Given the description of an element on the screen output the (x, y) to click on. 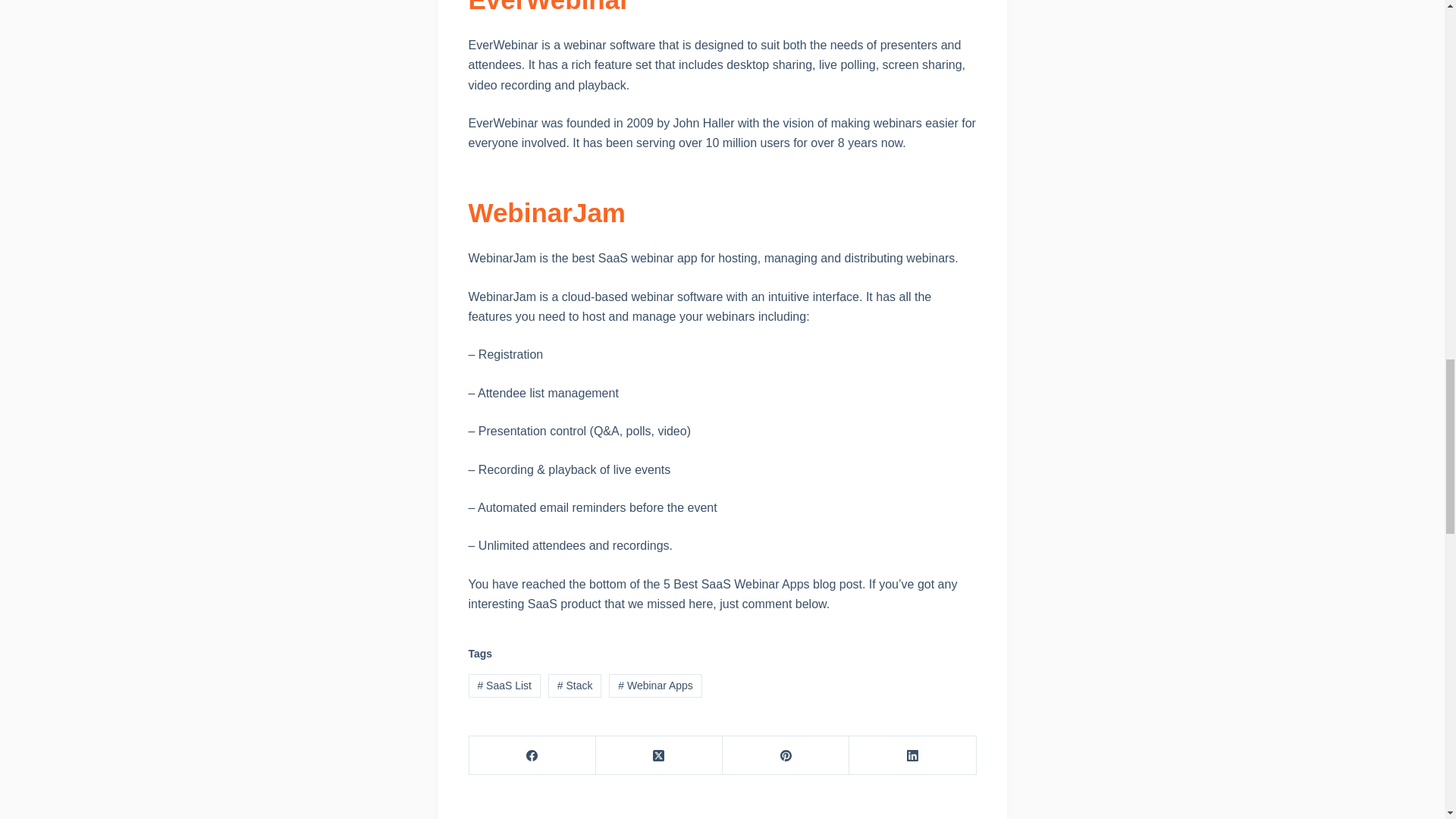
EverWebinar (549, 7)
WebinarJam (547, 212)
